Given the description of an element on the screen output the (x, y) to click on. 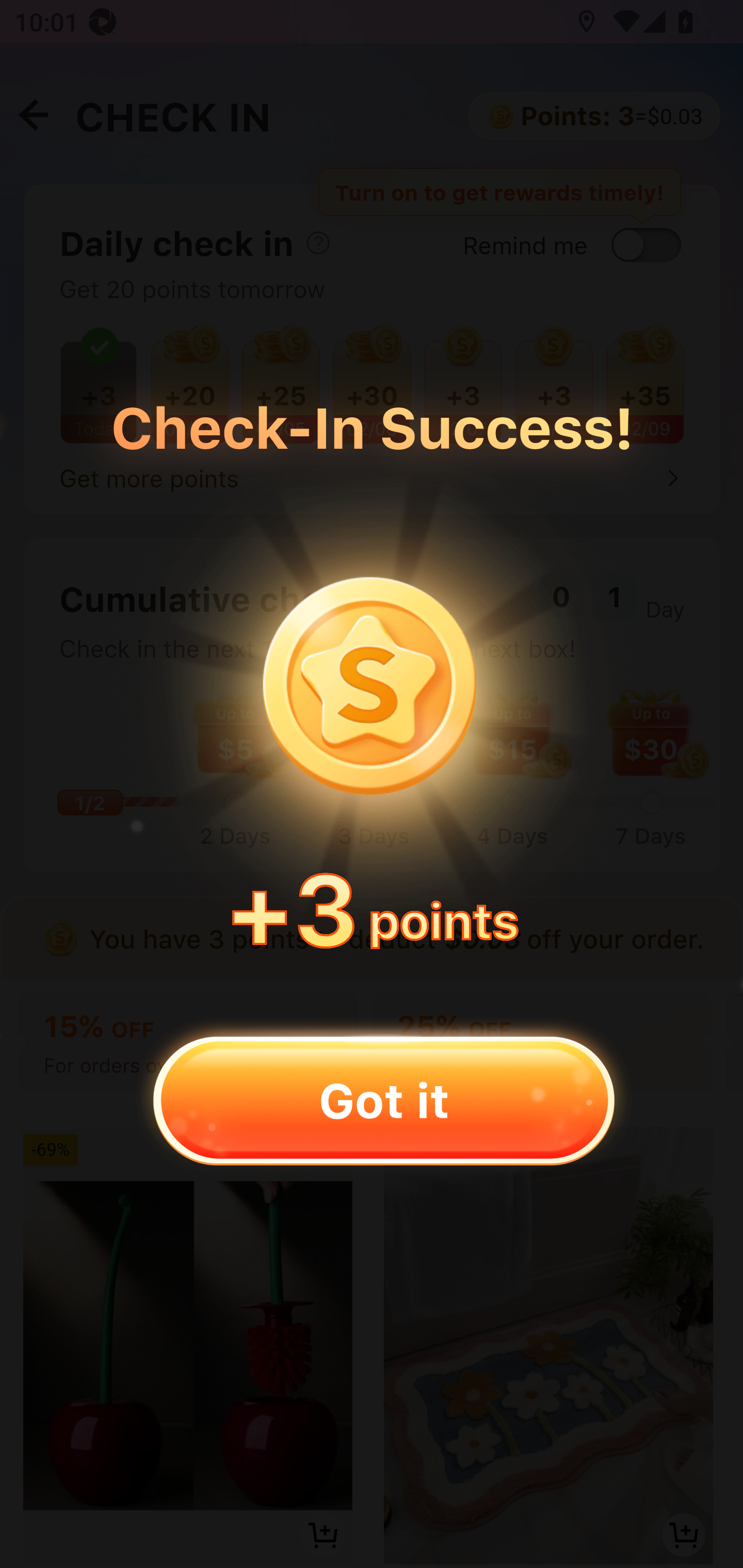
Got it (383, 1099)
